Given the description of an element on the screen output the (x, y) to click on. 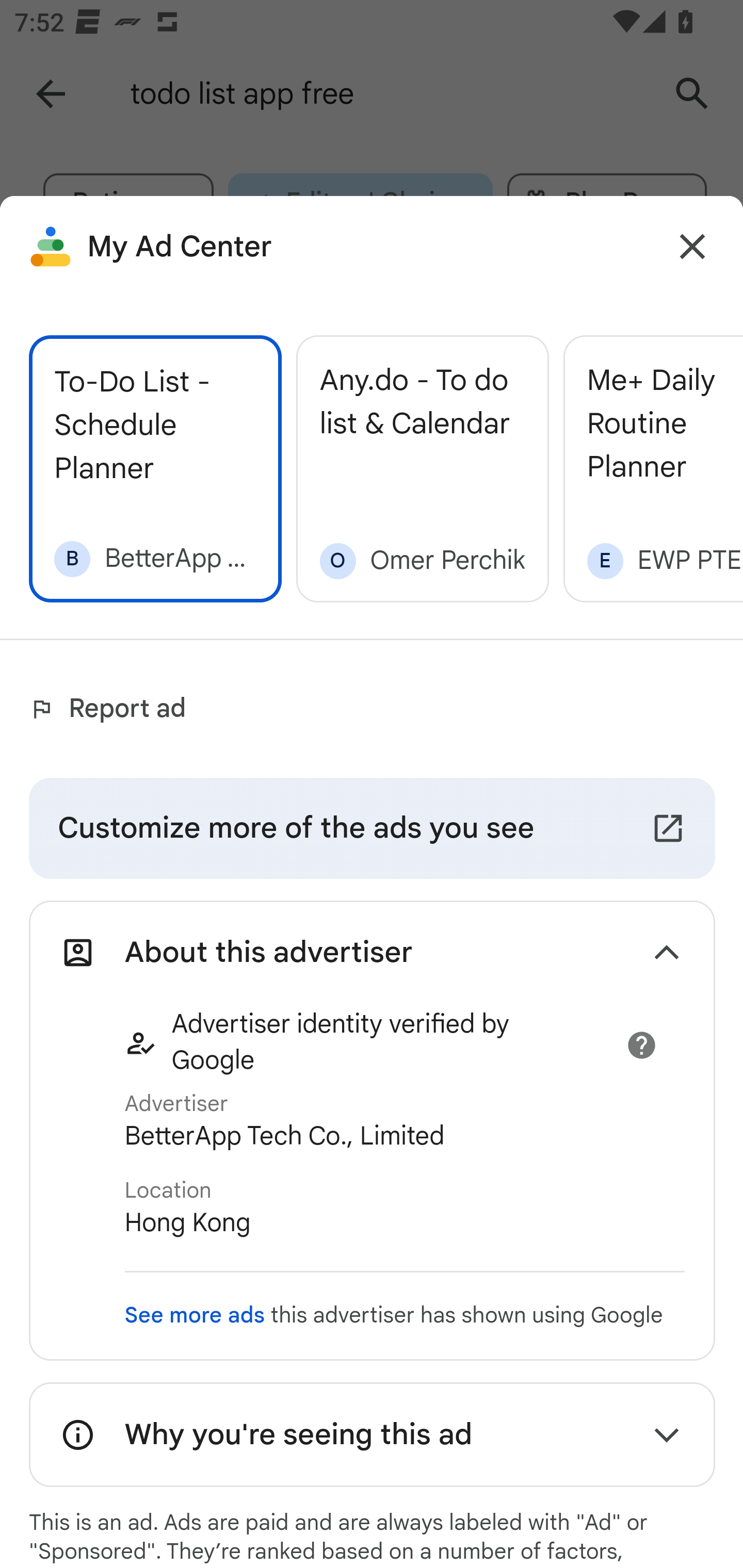
Close (692, 246)
Report ad (opens in new tab) Report ad (111, 708)
About this advertiser (371, 953)
See more ads (opens in new tab) See more ads (193, 1315)
Why you're seeing this ad (371, 1434)
